Given the description of an element on the screen output the (x, y) to click on. 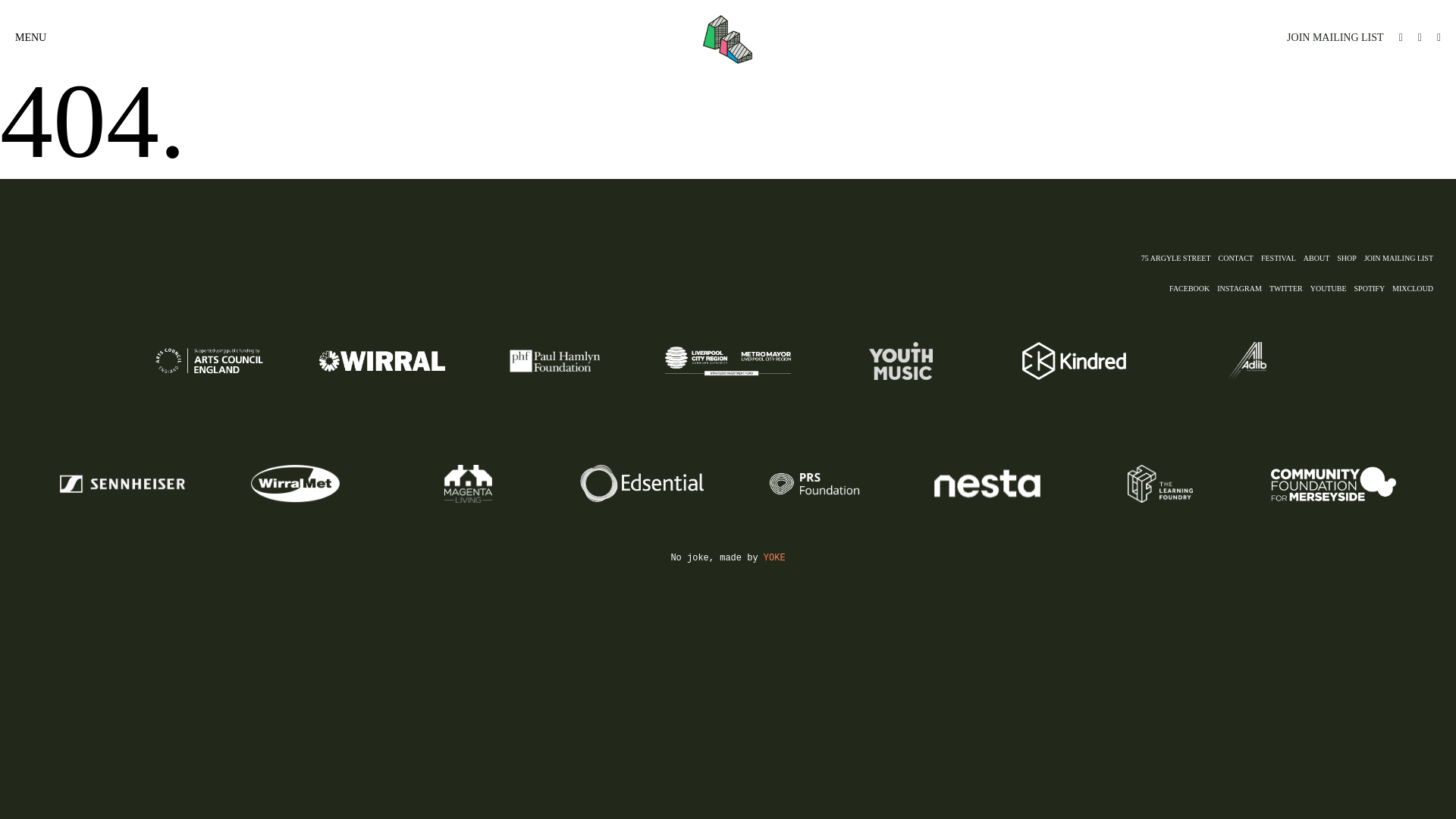
CONTACT (1238, 258)
FACEBOOK (1193, 288)
JOIN MAILING LIST (1402, 258)
FESTIVAL (1281, 258)
SPOTIFY (1373, 288)
ABOUT (1319, 258)
JOIN MAILING LIST (1327, 37)
MIXCLOUD (1416, 288)
TWITTER (1289, 288)
YOUTUBE (1332, 288)
